Given the description of an element on the screen output the (x, y) to click on. 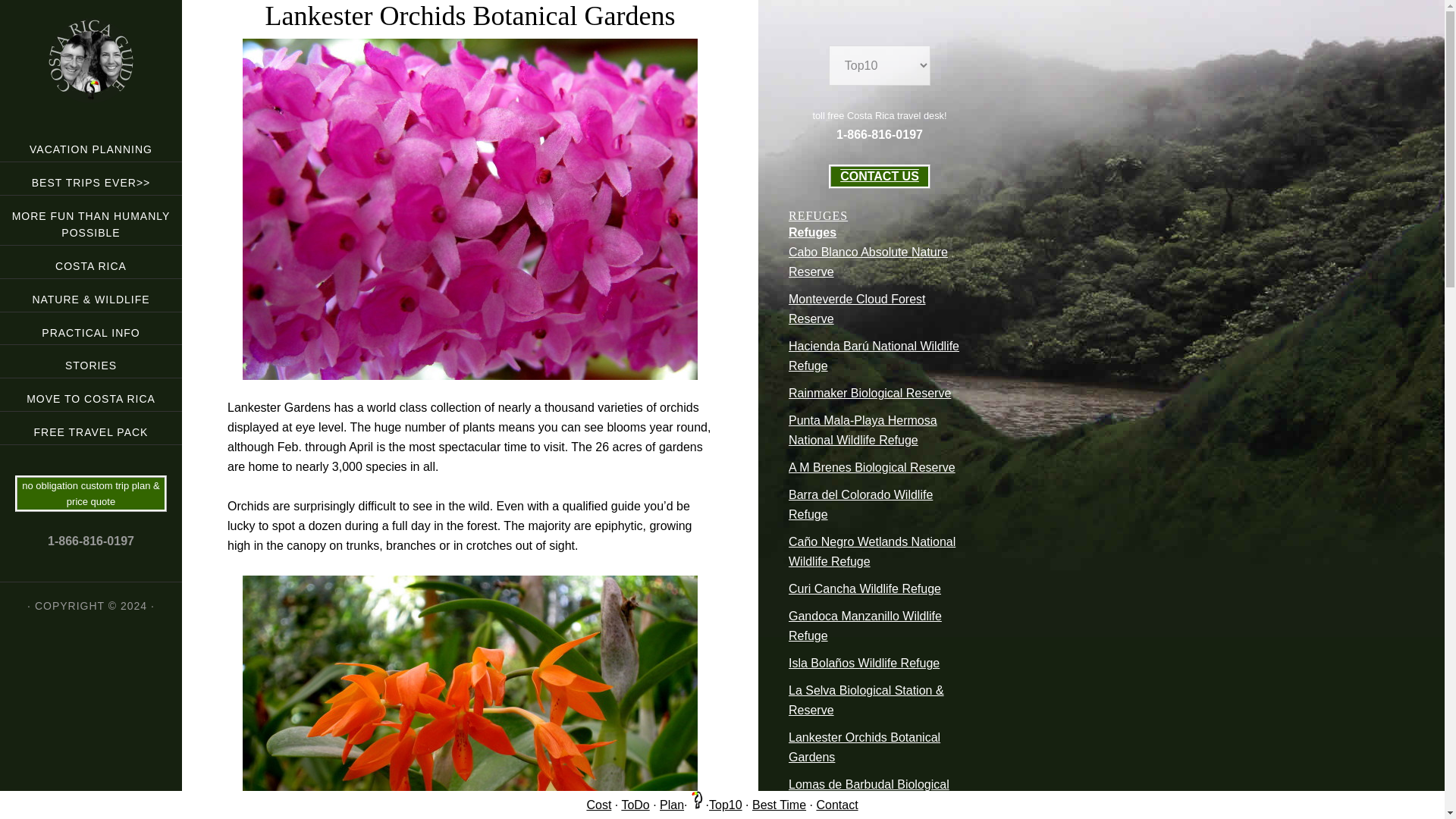
COSTA RICA (91, 261)
Best kept secrets in Costa Rica (696, 804)
MORE FUN THAN HUMANLY POSSIBLE (91, 220)
contact us with questions or travel requests (836, 804)
ten best things to do in Costa Rica (725, 804)
VACATION PLANNING (91, 144)
The best time to visit Costa Rica (779, 804)
